Given the description of an element on the screen output the (x, y) to click on. 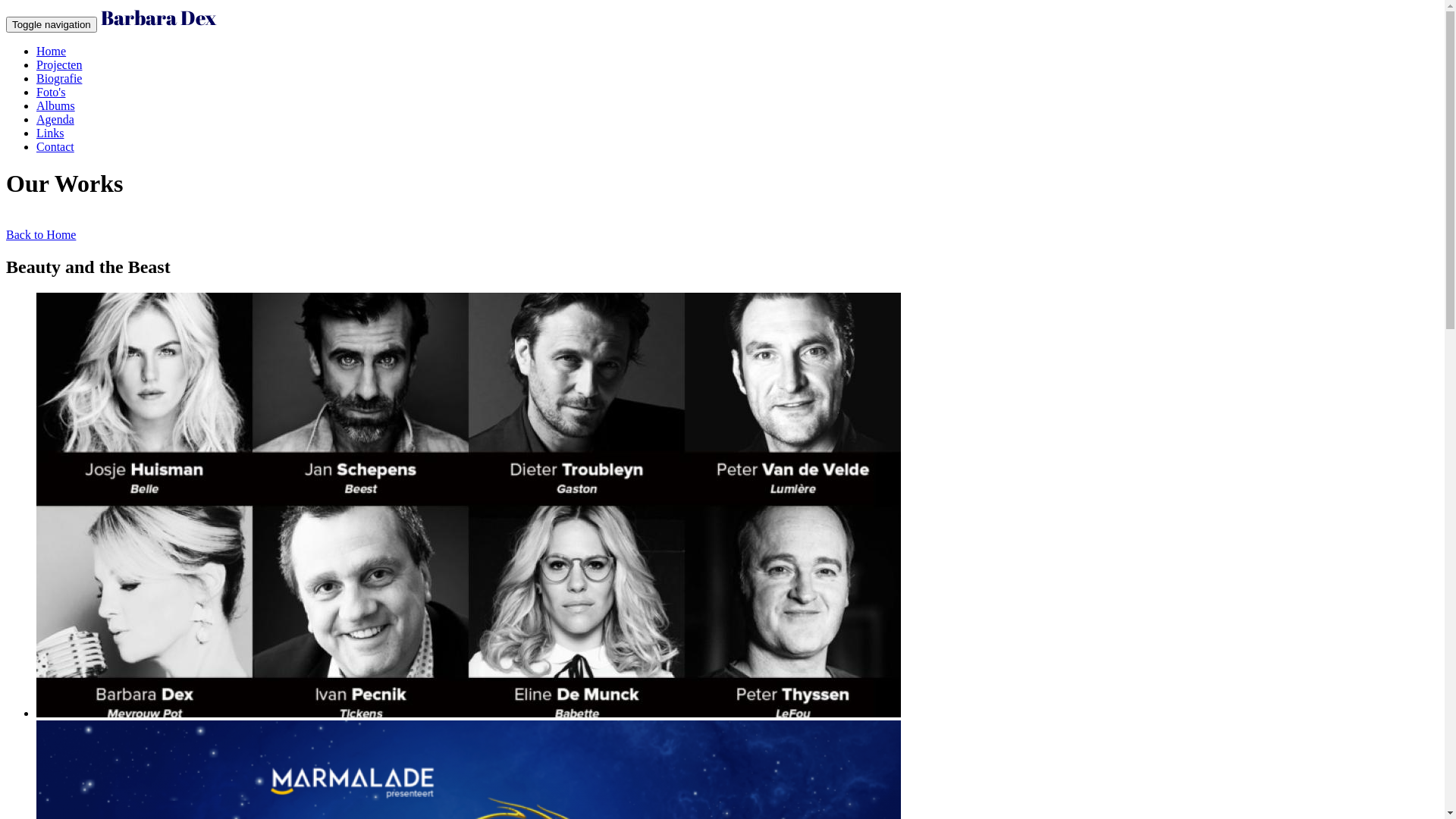
Home Element type: hover (158, 23)
Albums Element type: text (55, 105)
Back to Home Element type: text (40, 234)
Links Element type: text (49, 132)
Home Element type: text (50, 50)
Biografie Element type: text (58, 78)
Projecten Element type: text (58, 64)
Toggle navigation Element type: text (51, 24)
Contact Element type: text (55, 146)
Foto's Element type: text (50, 91)
Agenda Element type: text (55, 118)
